Given the description of an element on the screen output the (x, y) to click on. 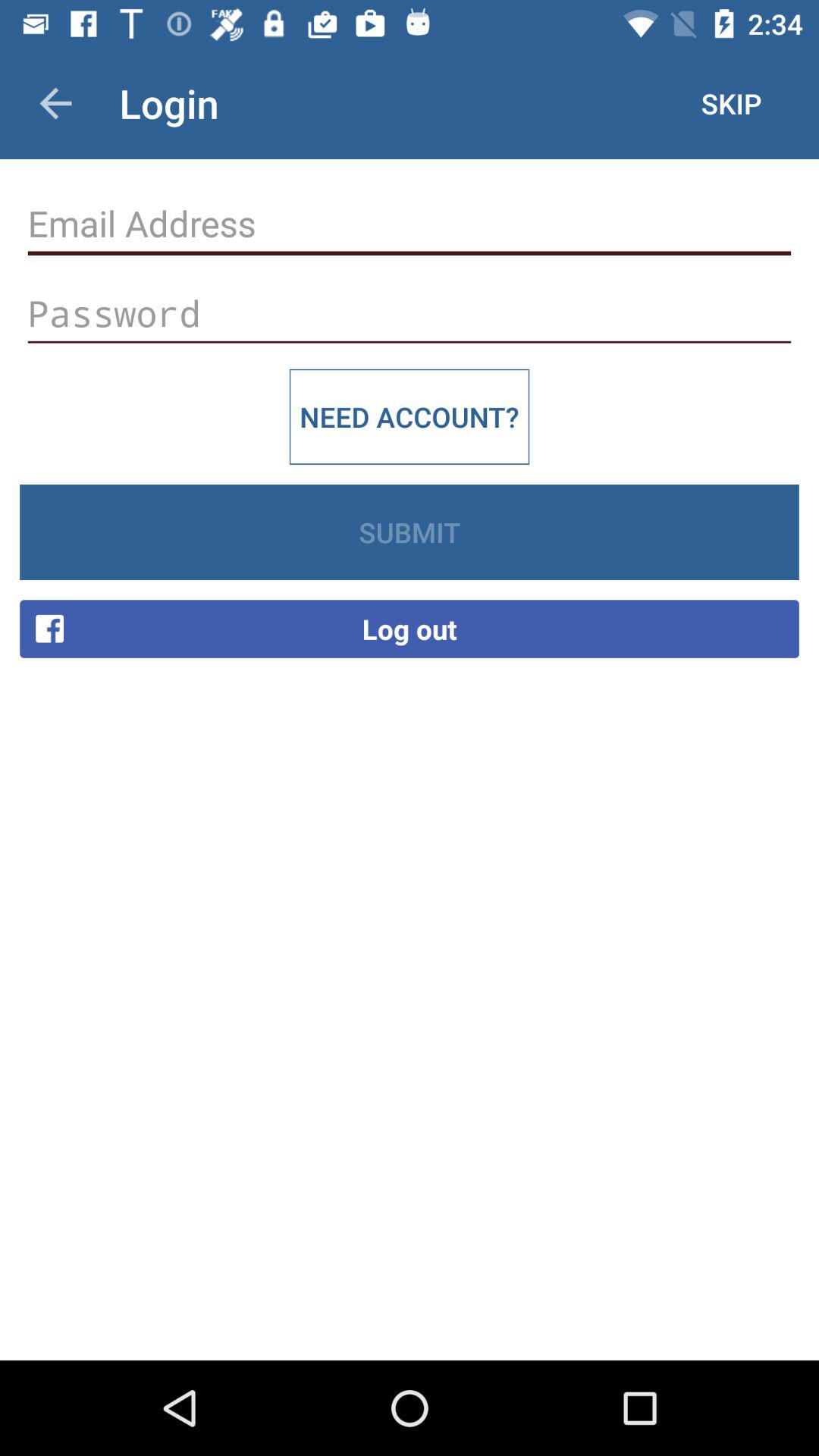
enter password (409, 313)
